Given the description of an element on the screen output the (x, y) to click on. 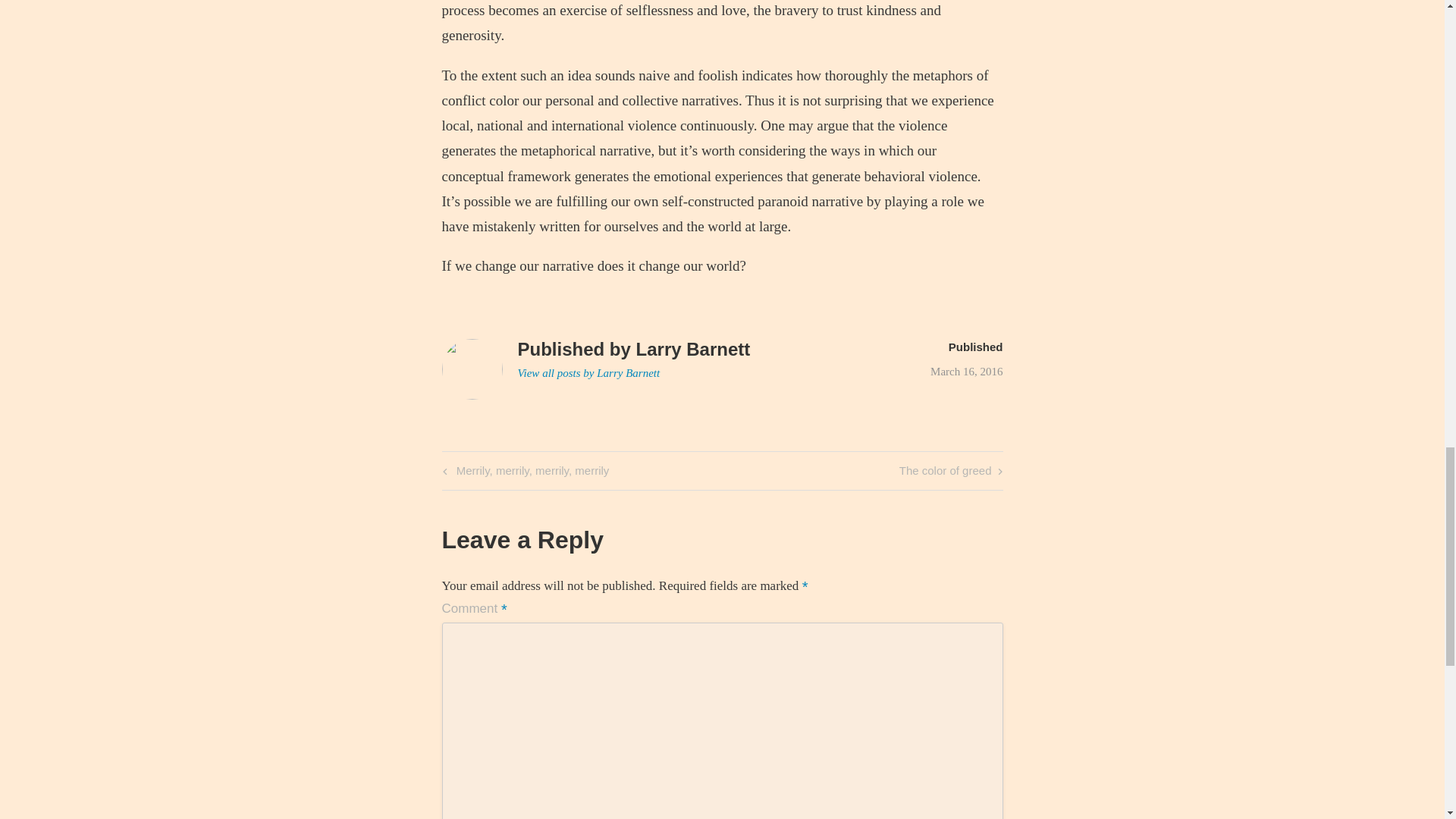
View all posts by Larry Barnett (587, 372)
